Given the description of an element on the screen output the (x, y) to click on. 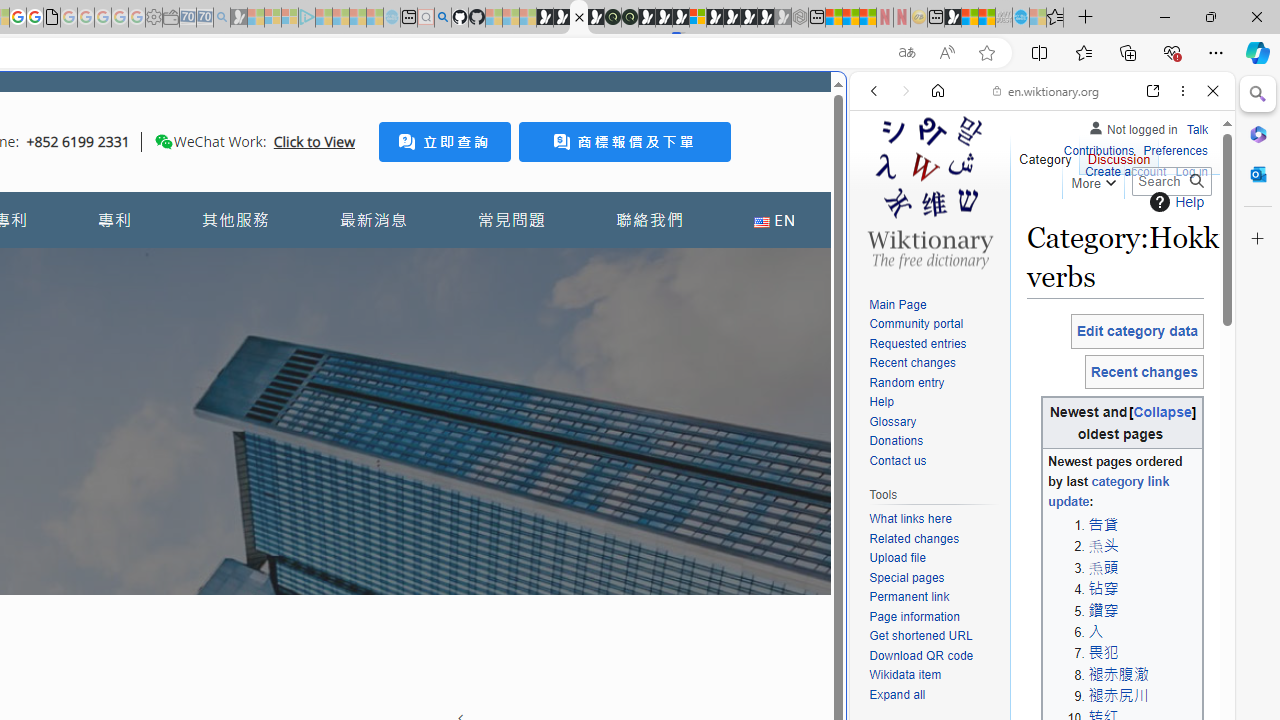
Log in (1191, 169)
Recent changes (912, 362)
Glossary (934, 421)
Download QR code (934, 655)
Download QR code (921, 655)
Contributions (1098, 148)
